Given the description of an element on the screen output the (x, y) to click on. 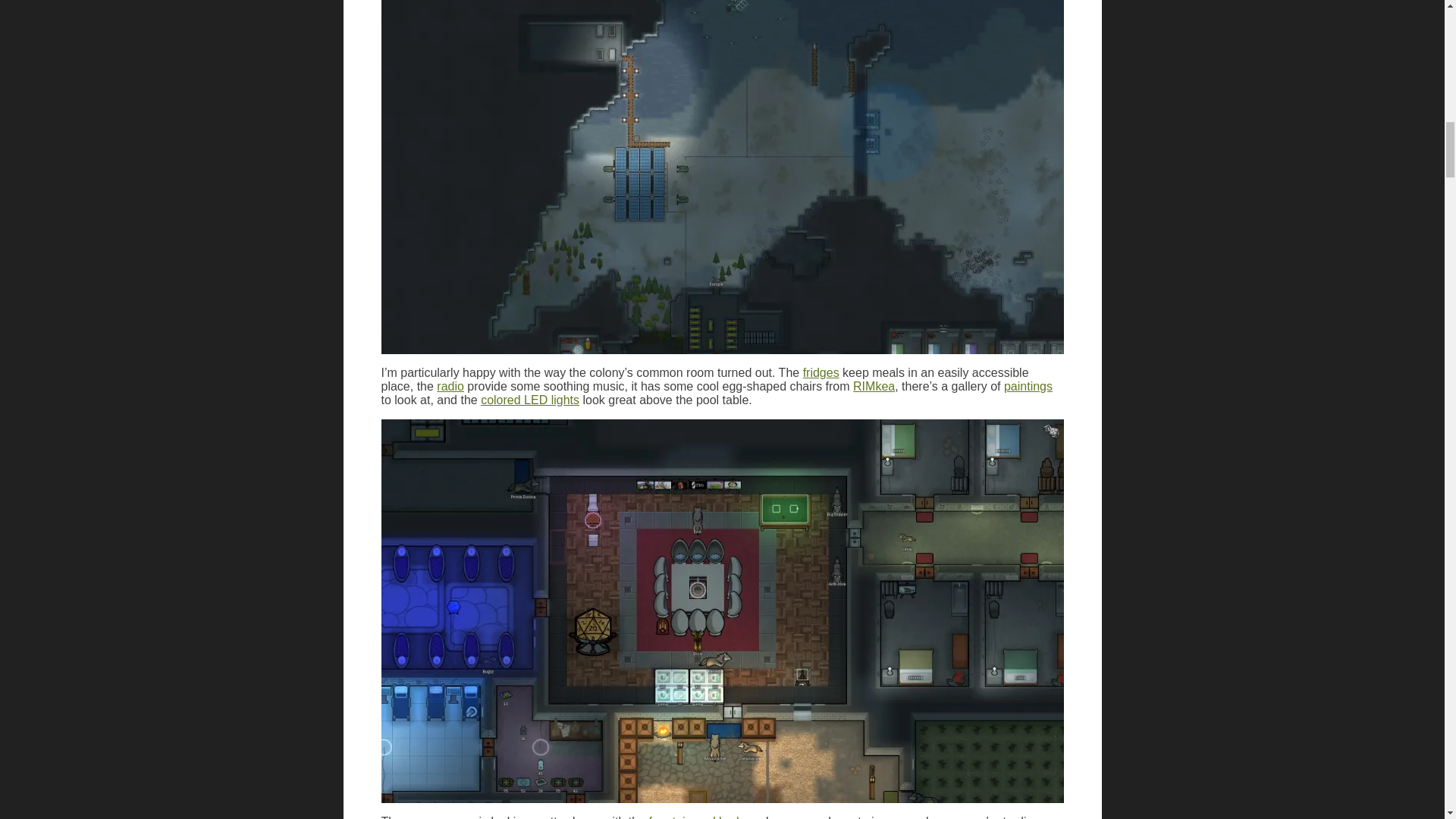
radio (450, 386)
RIMkea (874, 386)
paintings (1028, 386)
fountain and hedges (703, 816)
colored LED lights (529, 399)
fridges (821, 372)
